Given the description of an element on the screen output the (x, y) to click on. 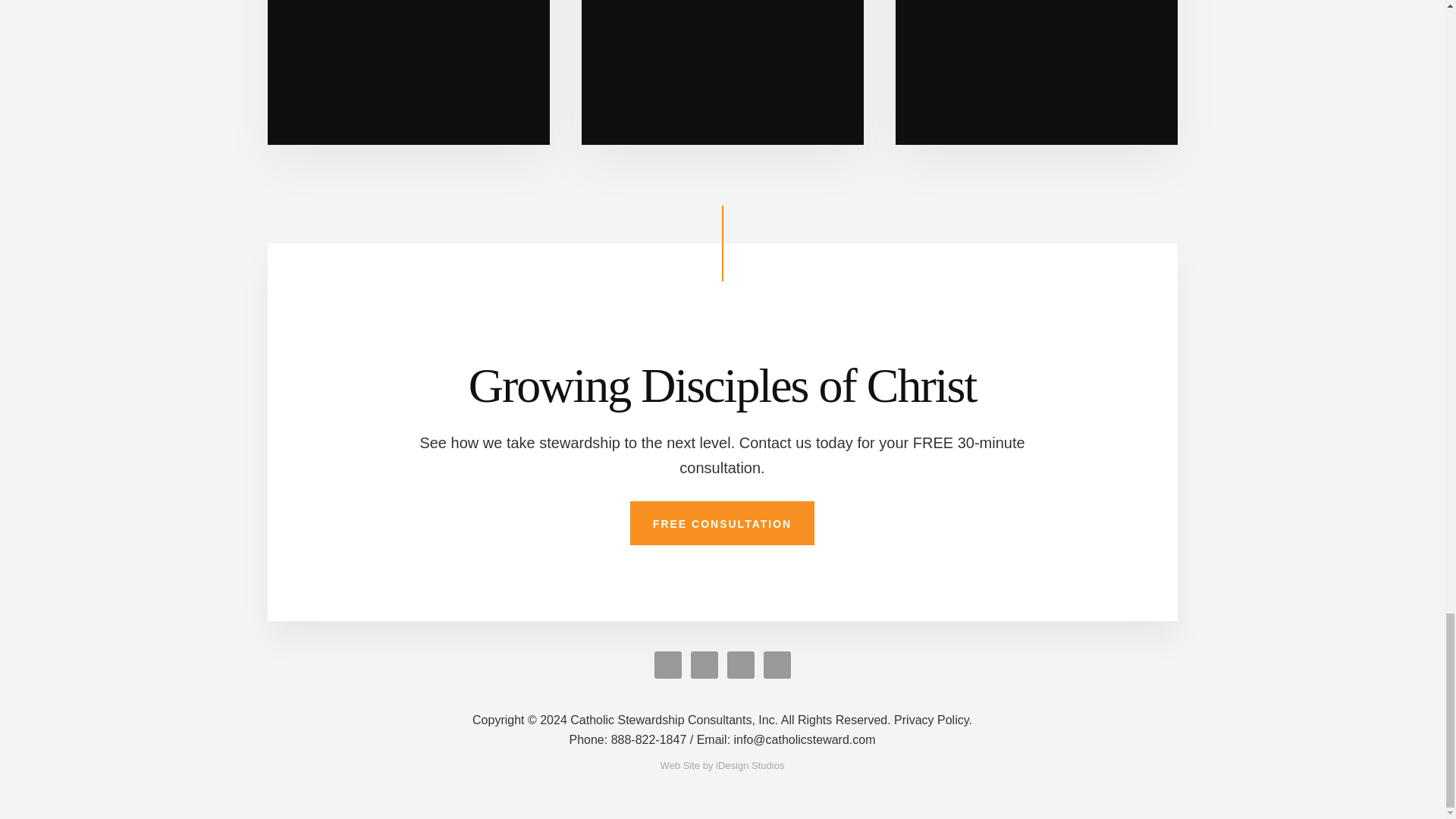
About Us (407, 72)
Privacy Policy (932, 719)
Email (786, 739)
Stewardship Services (721, 72)
Catholic Stewardship Consultants, Inc. (681, 719)
